Given the description of an element on the screen output the (x, y) to click on. 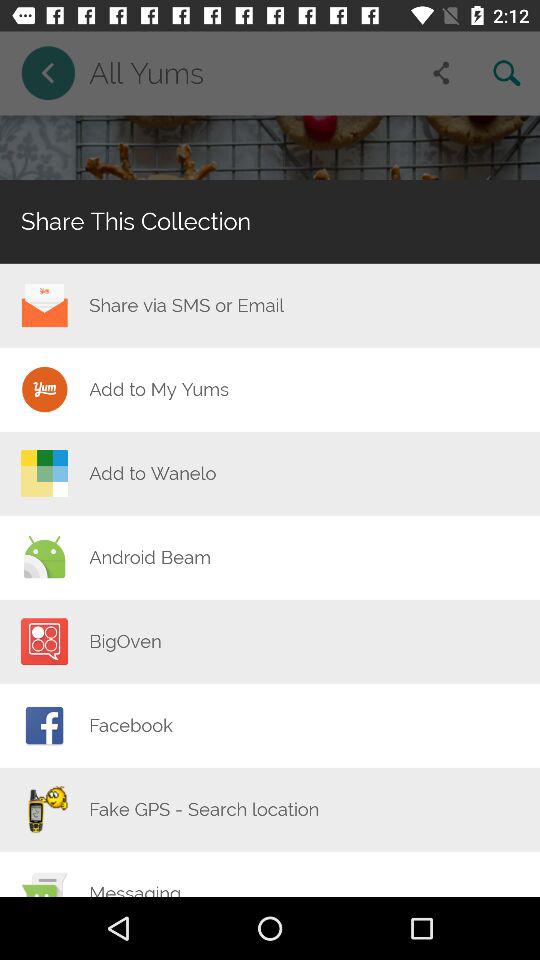
press item below the android beam item (125, 641)
